Given the description of an element on the screen output the (x, y) to click on. 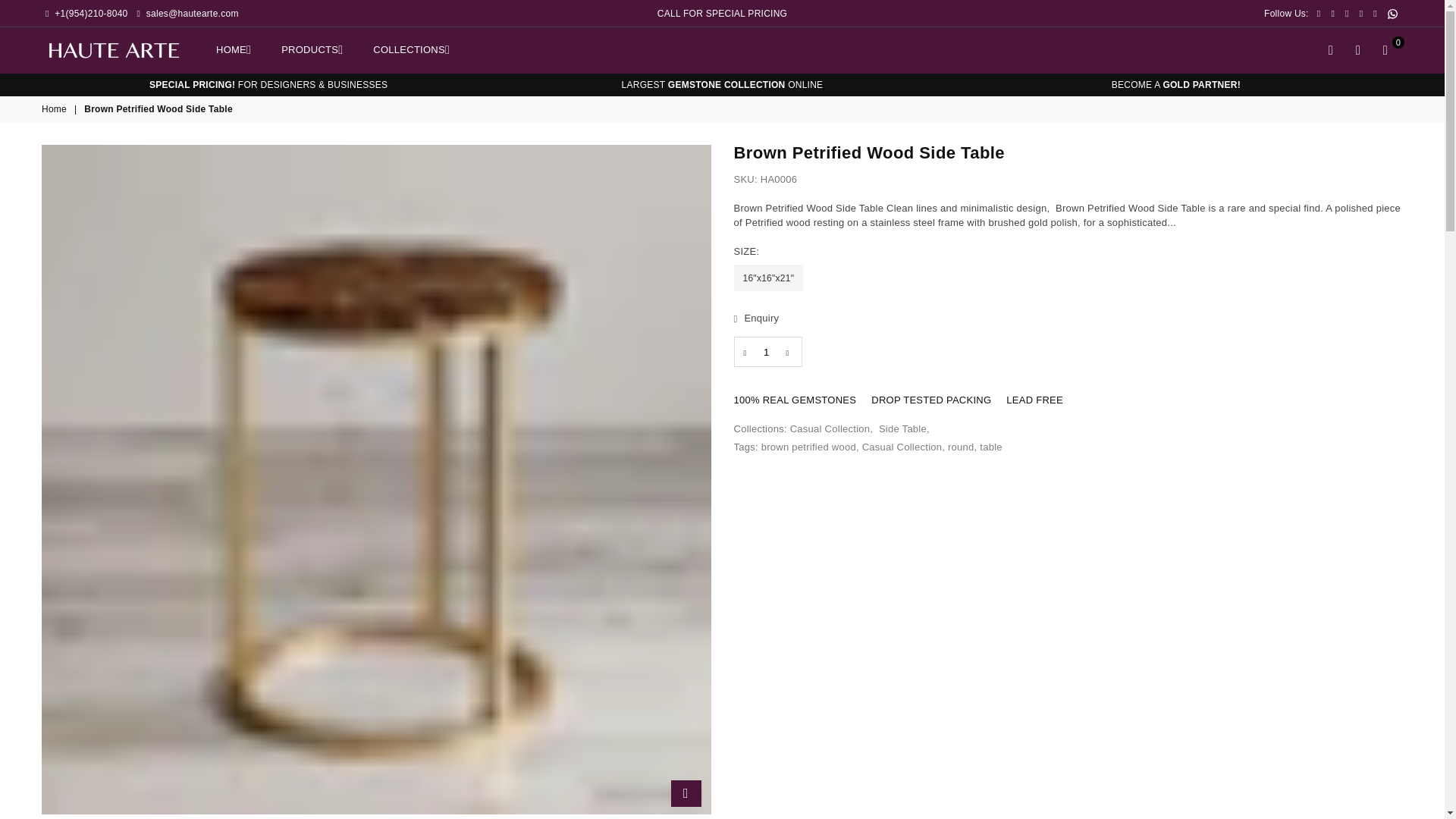
HAUTE ARTE (125, 49)
PRODUCTS (311, 49)
Pinterest (1346, 13)
HAUTE ARTE on Instagram (1361, 13)
Instagram (1361, 13)
Cart (1385, 49)
HAUTE ARTE on Pinterest (1346, 13)
Whatsapp (1392, 13)
Facebook (1318, 13)
Quantity (767, 351)
Back to the home page (55, 109)
HOME (233, 49)
Twitter (1331, 13)
HAUTE ARTE on Linkedin (1374, 13)
HAUTE ARTE on Whatsapp (1392, 13)
